Given the description of an element on the screen output the (x, y) to click on. 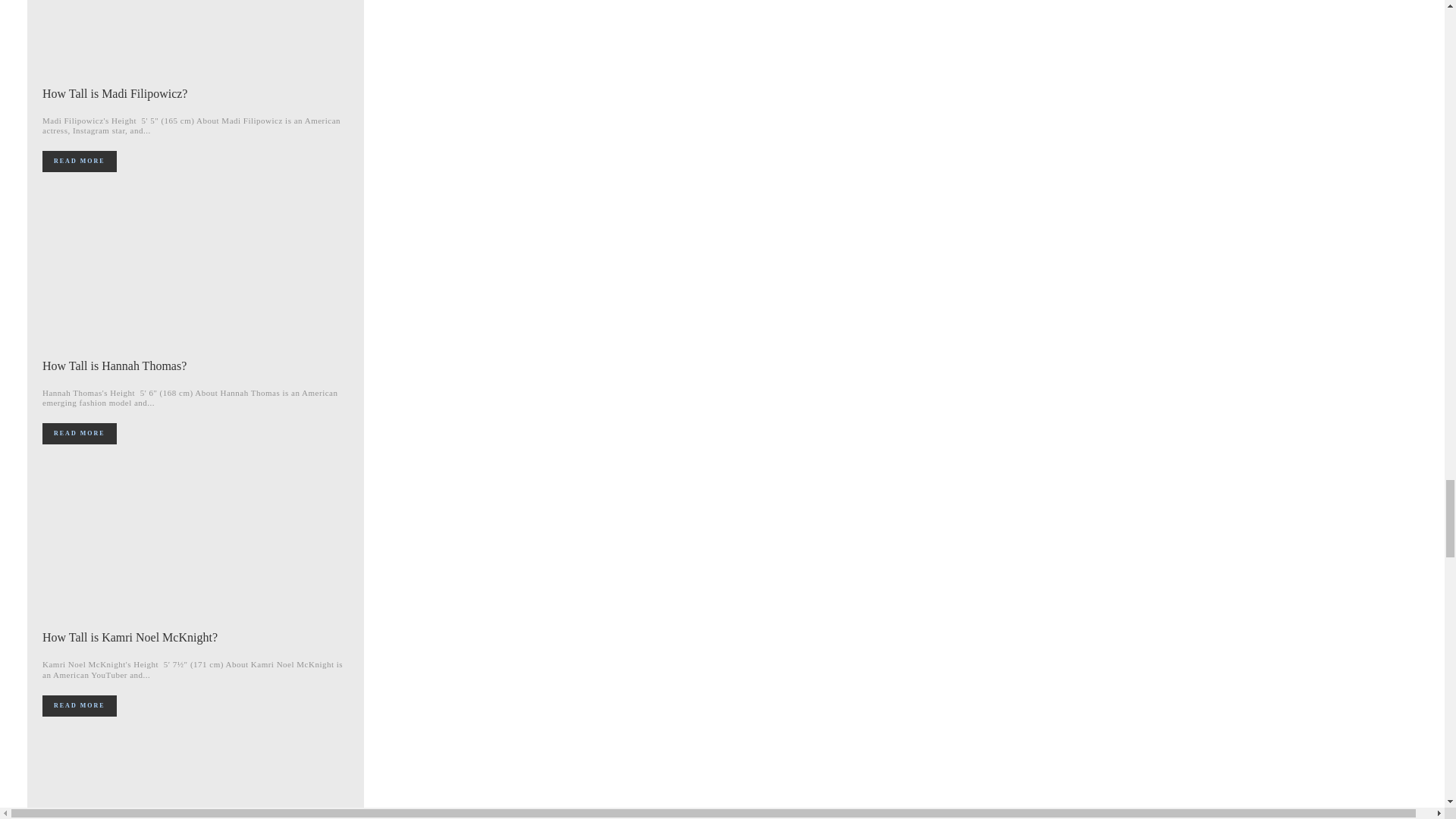
How Tall is Madi Filipowicz? (114, 92)
Read more (79, 433)
Read more (79, 705)
How Tall is Hannah Thomas? (195, 271)
How Tall is Kamri Noel McKnight? (195, 542)
How Tall is Madi Filipowicz? (195, 38)
Read more (79, 160)
How Tall is Hannah Thomas? (114, 365)
How Tall is Kamri Noel McKnight? (129, 636)
